Given the description of an element on the screen output the (x, y) to click on. 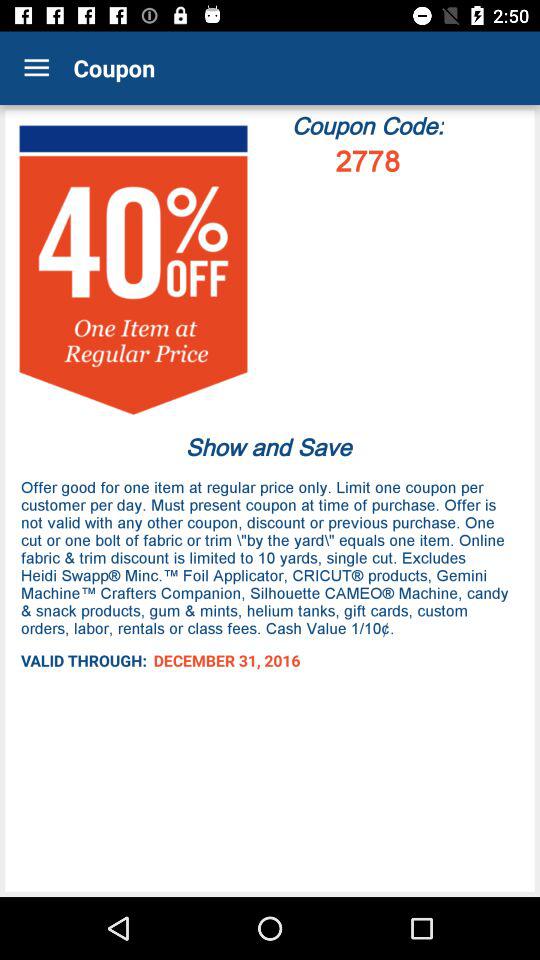
select icon next to the coupon item (36, 68)
